Given the description of an element on the screen output the (x, y) to click on. 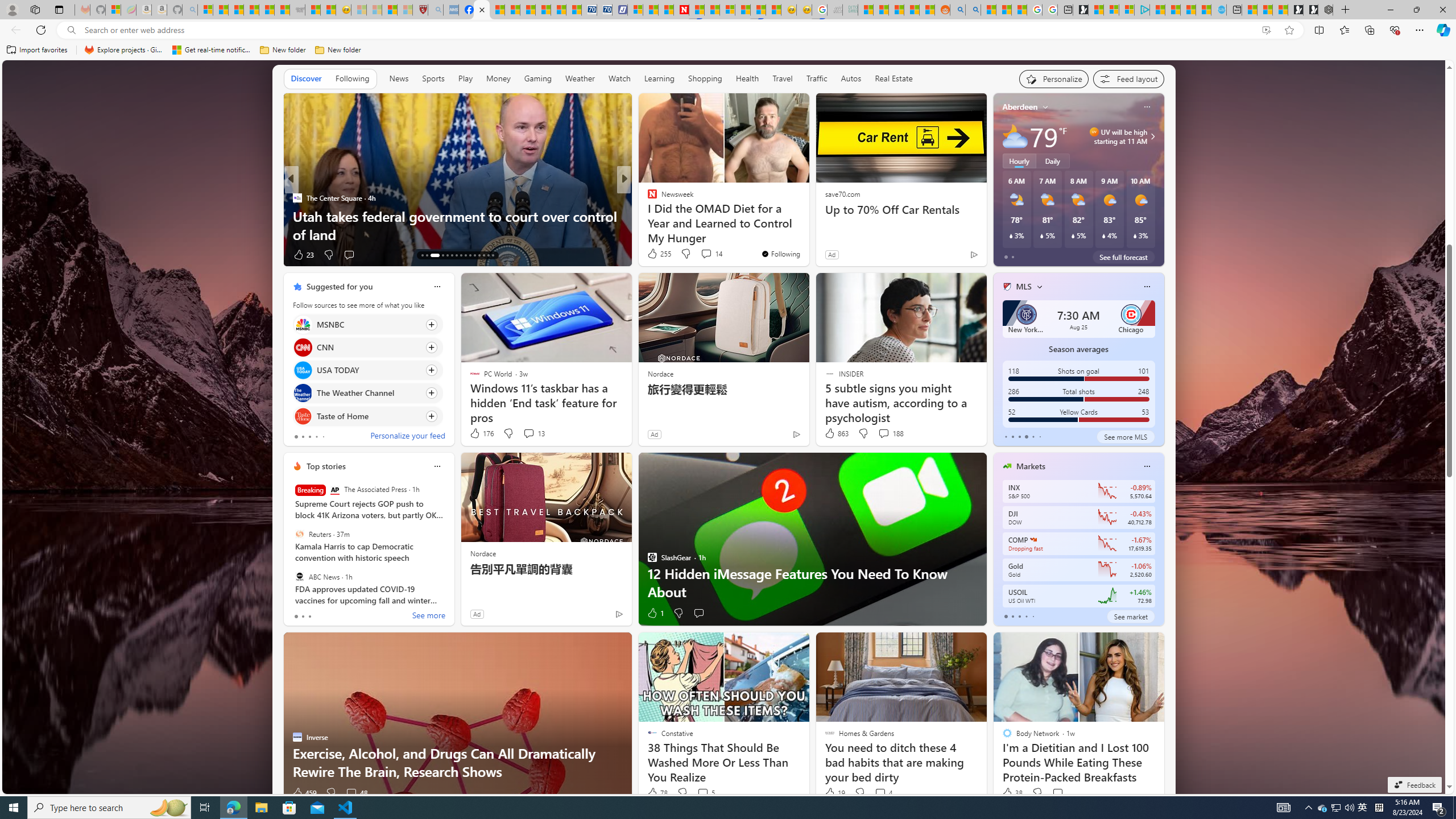
AutomationID: tab-69 (440, 255)
Up to 70% Off Car Rentals (900, 210)
previous (998, 359)
See more MLS (1125, 436)
Feed settings (1128, 78)
